Given the description of an element on the screen output the (x, y) to click on. 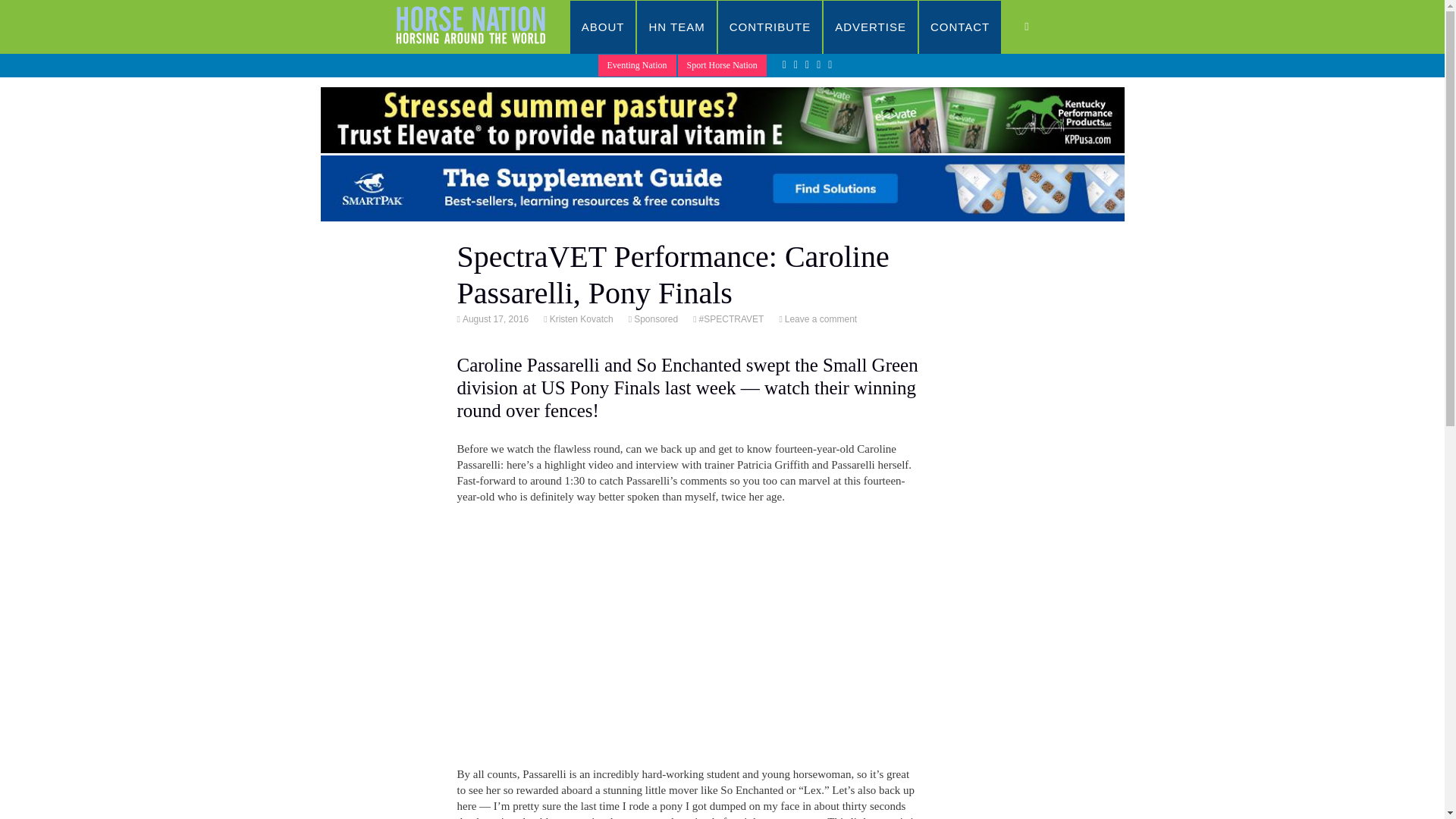
CONTACT (959, 27)
Kristen Kovatch (579, 318)
ABOUT (603, 27)
Sport Horse Nation (722, 65)
View all posts by Kristen Kovatch (579, 318)
SEARCH (1041, 27)
CONTRIBUTE (769, 27)
Leave a comment (820, 318)
August 17, 2016 (494, 318)
Sponsored (654, 318)
